Given the description of an element on the screen output the (x, y) to click on. 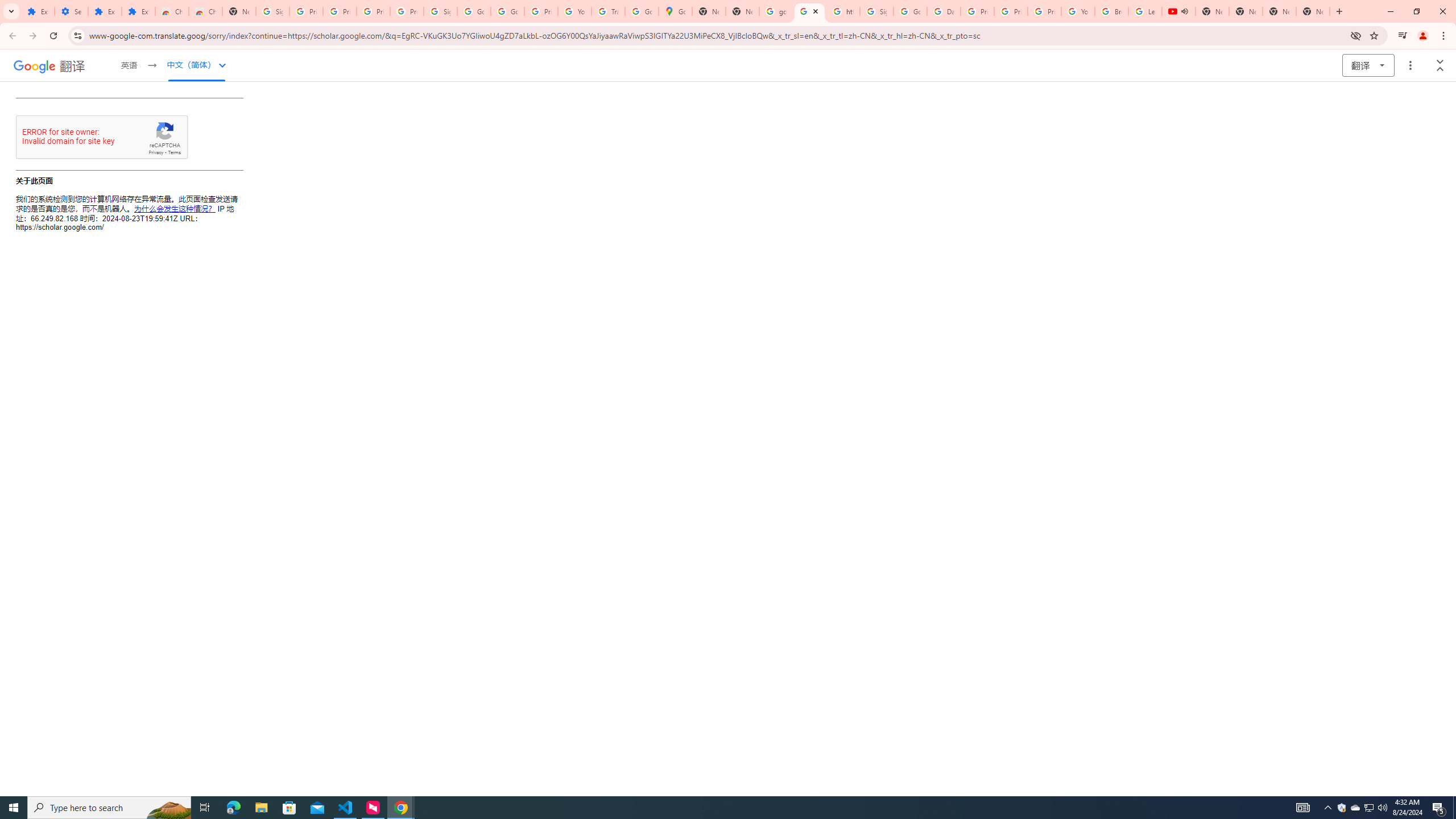
Extensions (37, 11)
Sign in - Google Accounts (876, 11)
Settings (71, 11)
Chrome Web Store (171, 11)
